Given the description of an element on the screen output the (x, y) to click on. 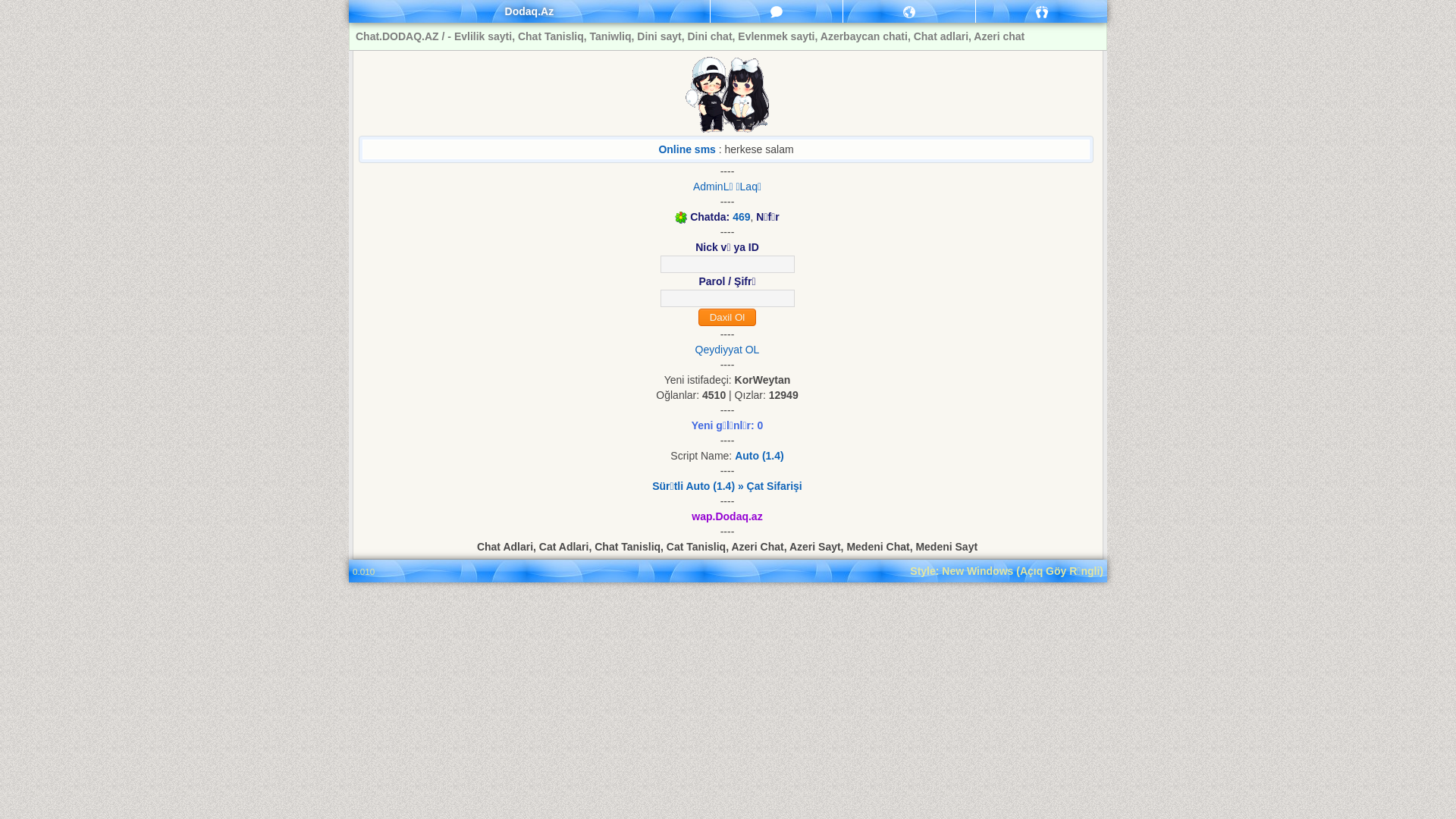
nick Element type: hover (726, 264)
Qeydiyyat OL Element type: text (727, 349)
Online sms Element type: text (686, 149)
Daxil Ol Element type: text (726, 317)
469 Element type: text (740, 216)
wap.Dodaq.az Element type: text (726, 516)
Bildirisler Element type: hover (909, 11)
Mesajlar Element type: hover (776, 11)
Auto (1.4) Element type: text (759, 455)
Parol Element type: hover (726, 298)
Qonaqlar Element type: hover (1041, 11)
0.010 Element type: text (363, 571)
